Given the description of an element on the screen output the (x, y) to click on. 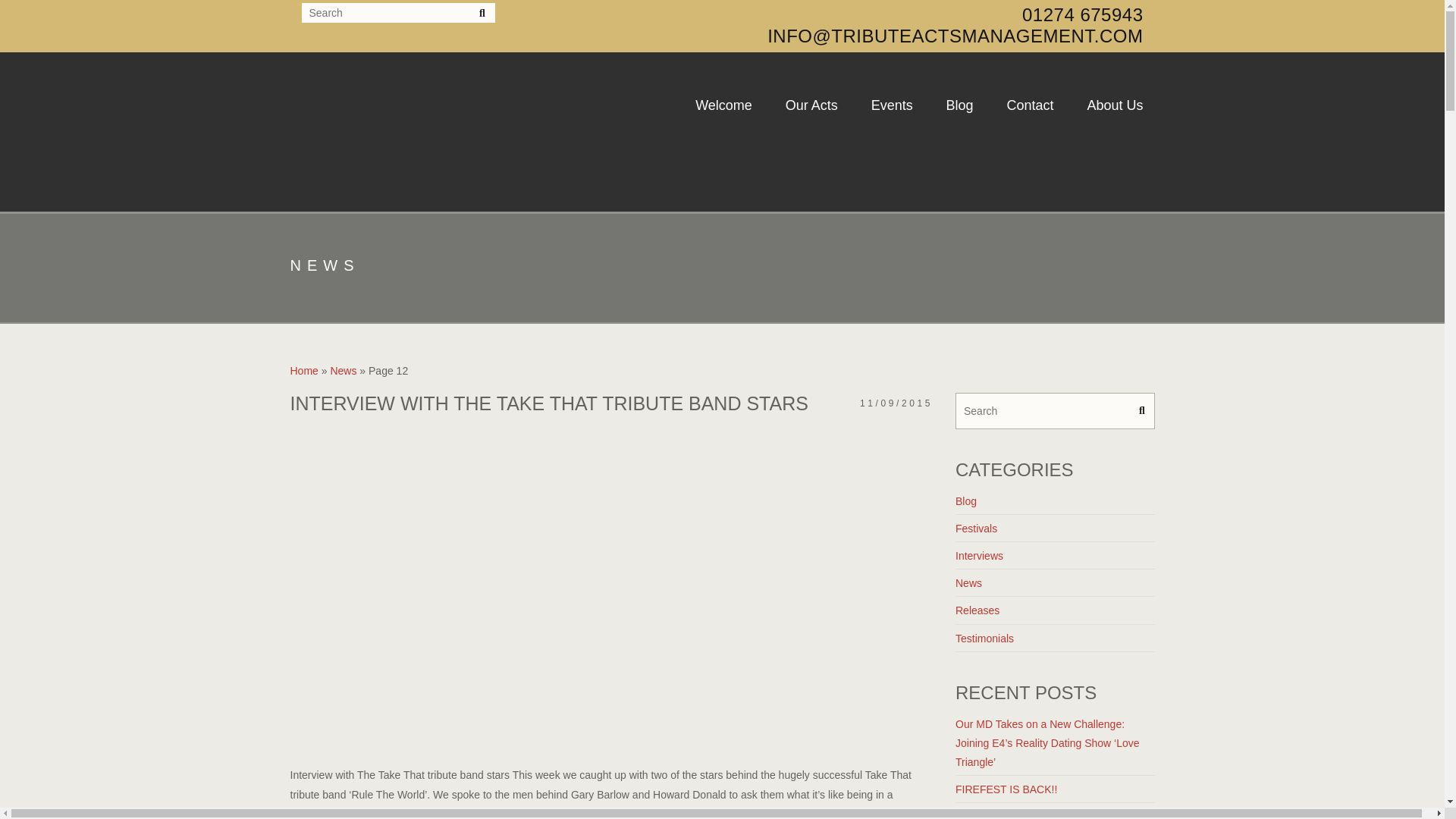
01274 675943 (1082, 14)
News (343, 370)
INTERVIEW WITH THE TAKE THAT TRIBUTE BAND STARS (548, 403)
Home (303, 370)
